Given the description of an element on the screen output the (x, y) to click on. 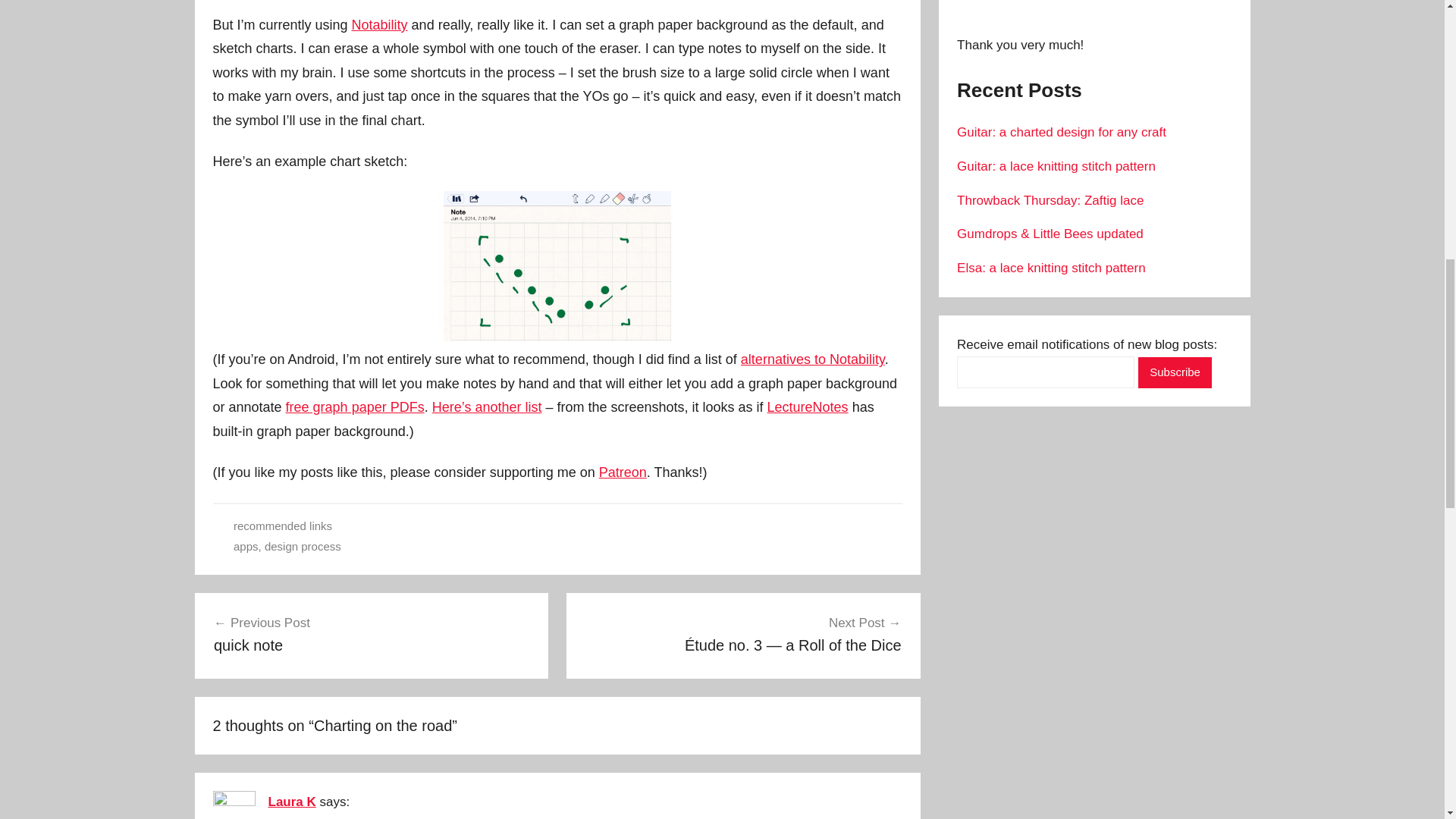
free graph paper PDFs (355, 406)
alternatives to Notability (813, 359)
Notability (379, 24)
Patreon (622, 472)
LectureNotes (807, 406)
Subscribe (1174, 372)
